Given the description of an element on the screen output the (x, y) to click on. 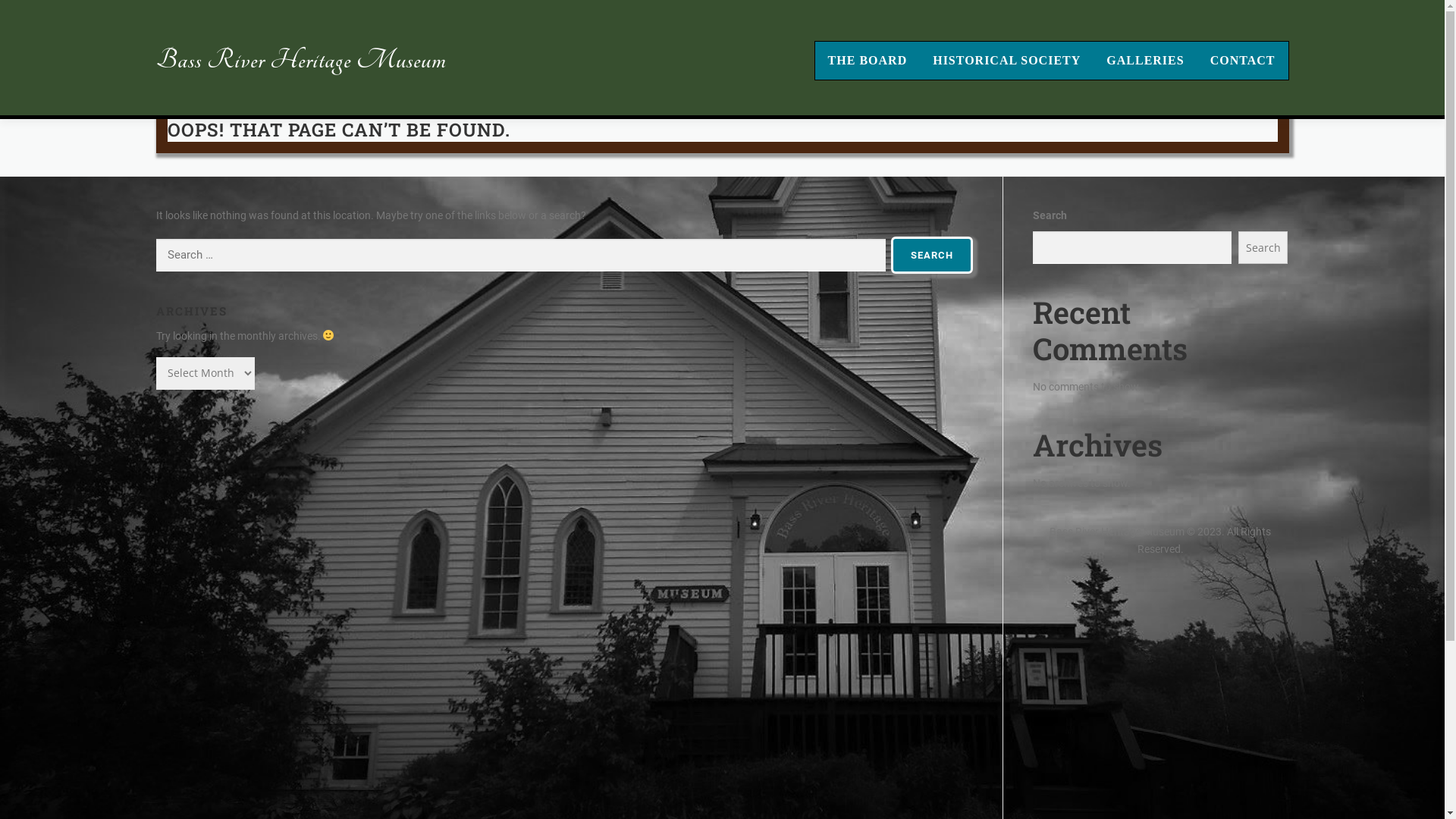
CONTACT Element type: text (1242, 60)
Search Element type: text (1263, 247)
HISTORICAL SOCIETY Element type: text (1006, 60)
GALLERIES Element type: text (1144, 60)
THE BOARD Element type: text (867, 60)
Bass River Heritage Museum Element type: text (300, 58)
Search Element type: text (931, 254)
